Given the description of an element on the screen output the (x, y) to click on. 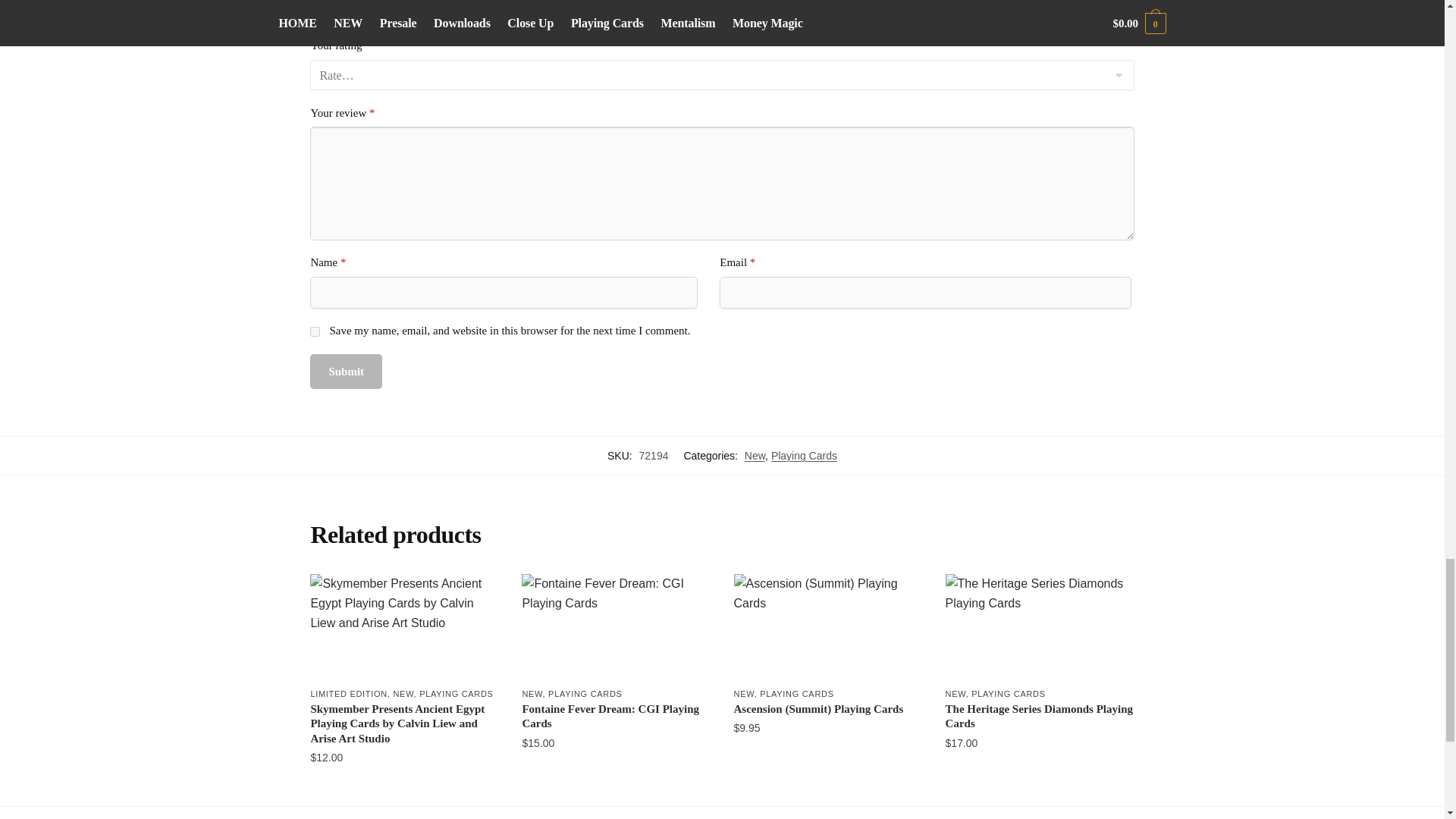
New (754, 455)
Fontaine Fever Dream: CGI Playing Cards (615, 627)
yes (315, 331)
Playing Cards (804, 455)
The Heritage Series Diamonds Playing Cards (1039, 627)
Submit (345, 371)
Submit (345, 371)
